Given the description of an element on the screen output the (x, y) to click on. 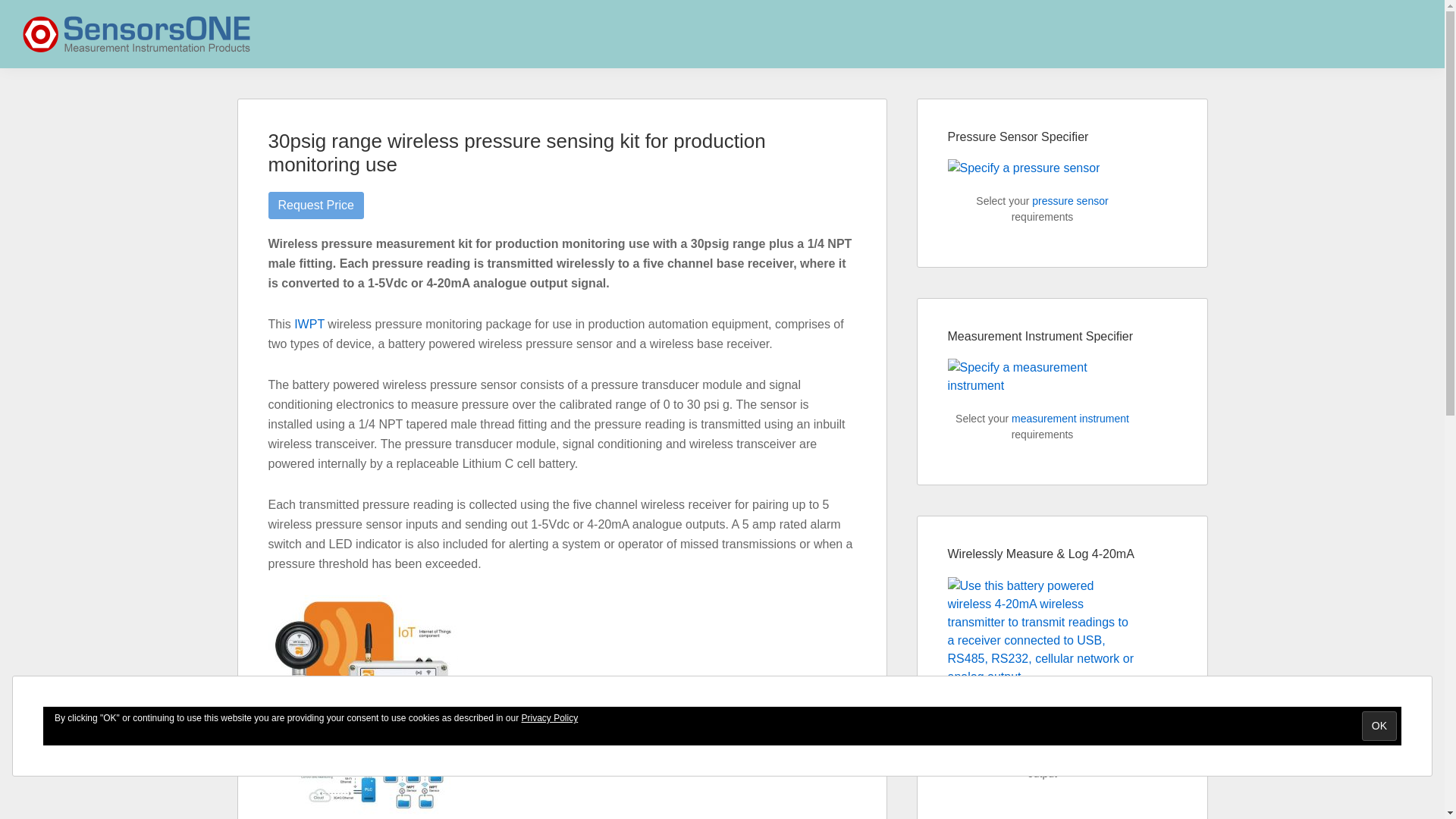
OK (1378, 726)
OK (1378, 726)
IWPT (309, 323)
Measurement Instrument Specifier (1042, 376)
Pressure Sensor Specifier (1023, 167)
measurement instrument (1070, 418)
Privacy Policy (549, 717)
pressure sensor (1070, 200)
